Given the description of an element on the screen output the (x, y) to click on. 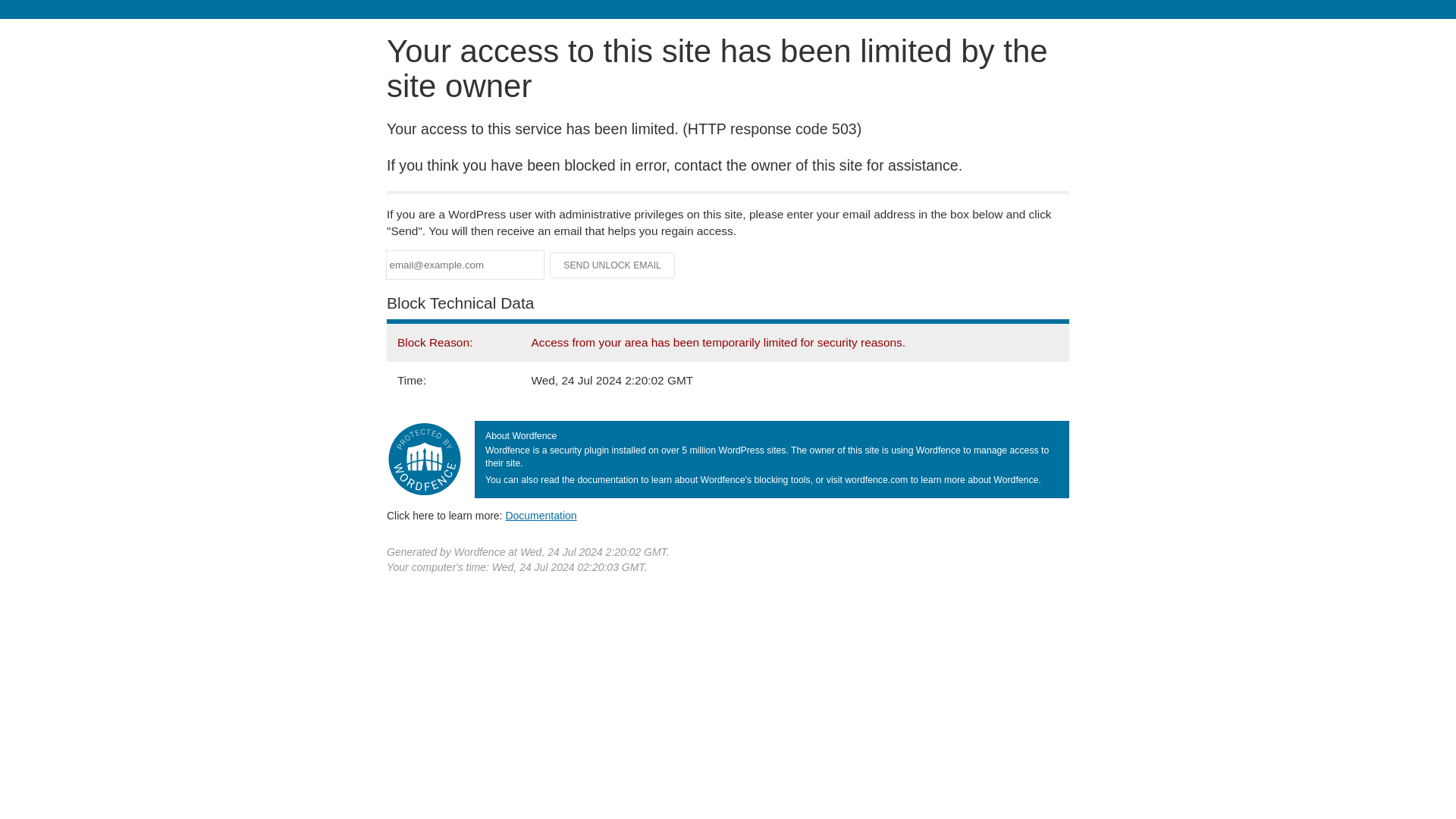
Documentation (540, 515)
Send Unlock Email (612, 265)
Send Unlock Email (612, 265)
